Given the description of an element on the screen output the (x, y) to click on. 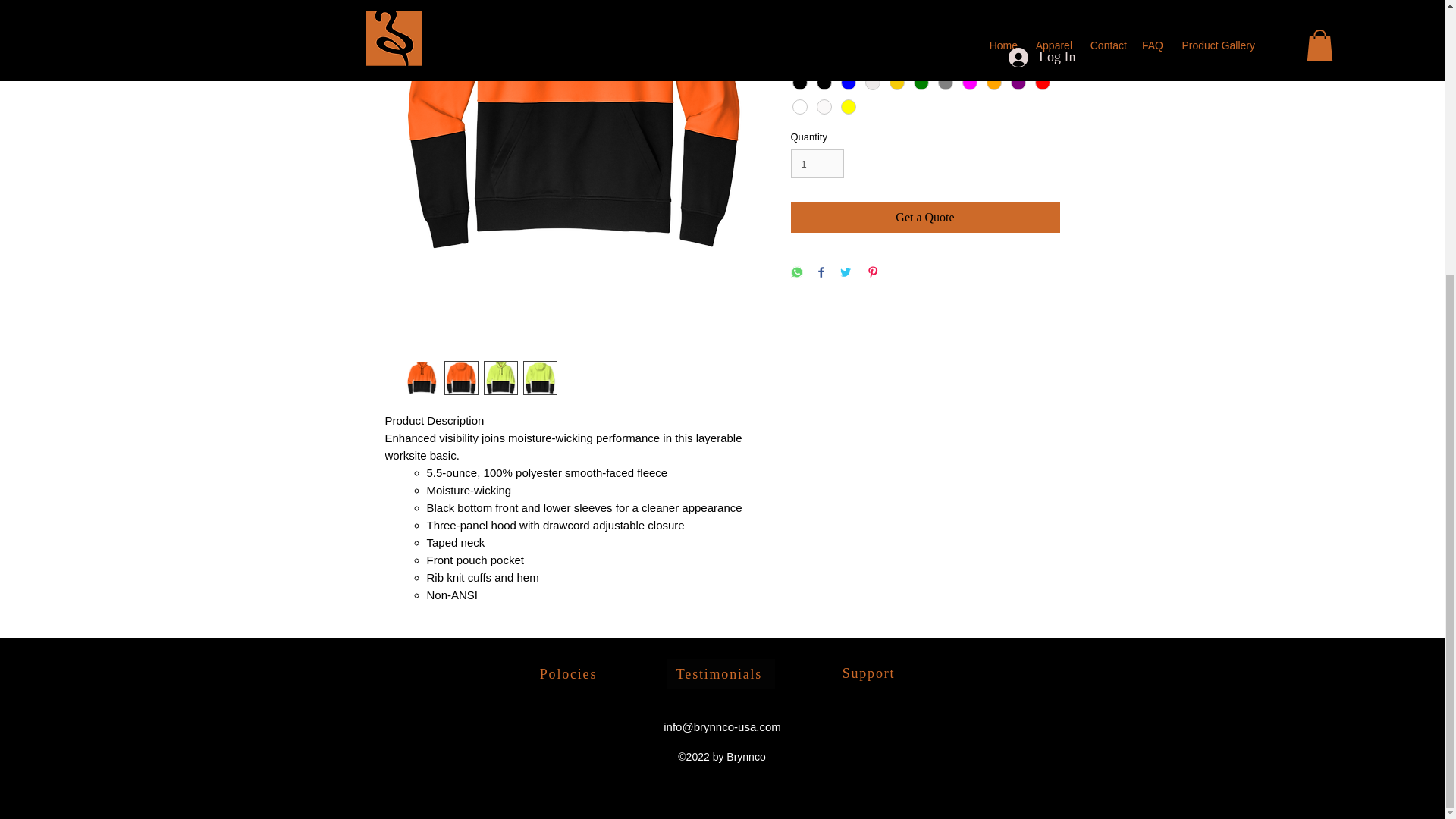
Select (924, 24)
1 (817, 163)
Polocies (569, 674)
Support (869, 673)
Get a Quote (924, 217)
Testimonials (720, 674)
